Given the description of an element on the screen output the (x, y) to click on. 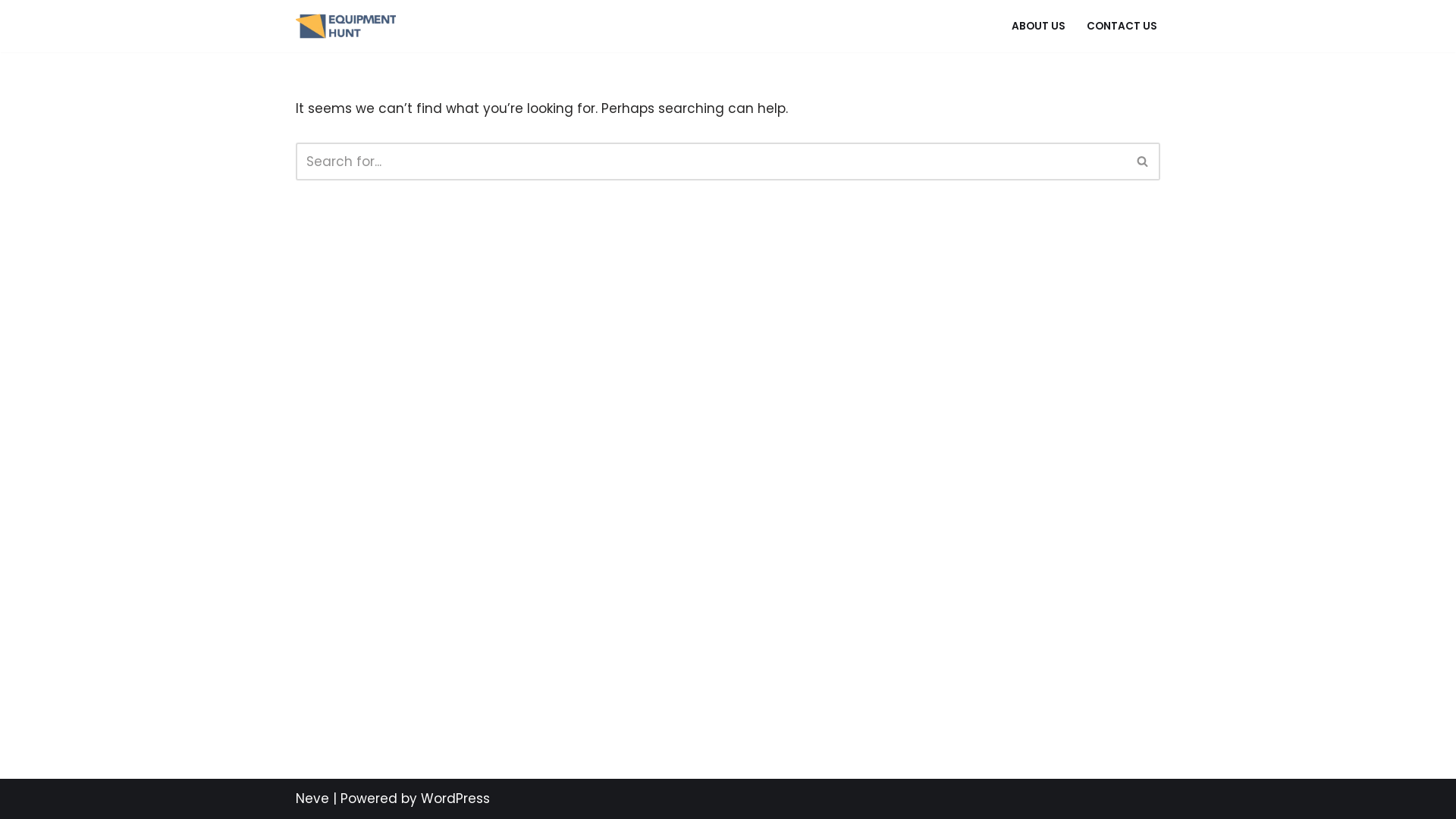
Neve Element type: text (312, 798)
ABOUT US Element type: text (1038, 25)
CONTACT US Element type: text (1121, 25)
WordPress Element type: text (454, 798)
Skip to content Element type: text (11, 31)
